Given the description of an element on the screen output the (x, y) to click on. 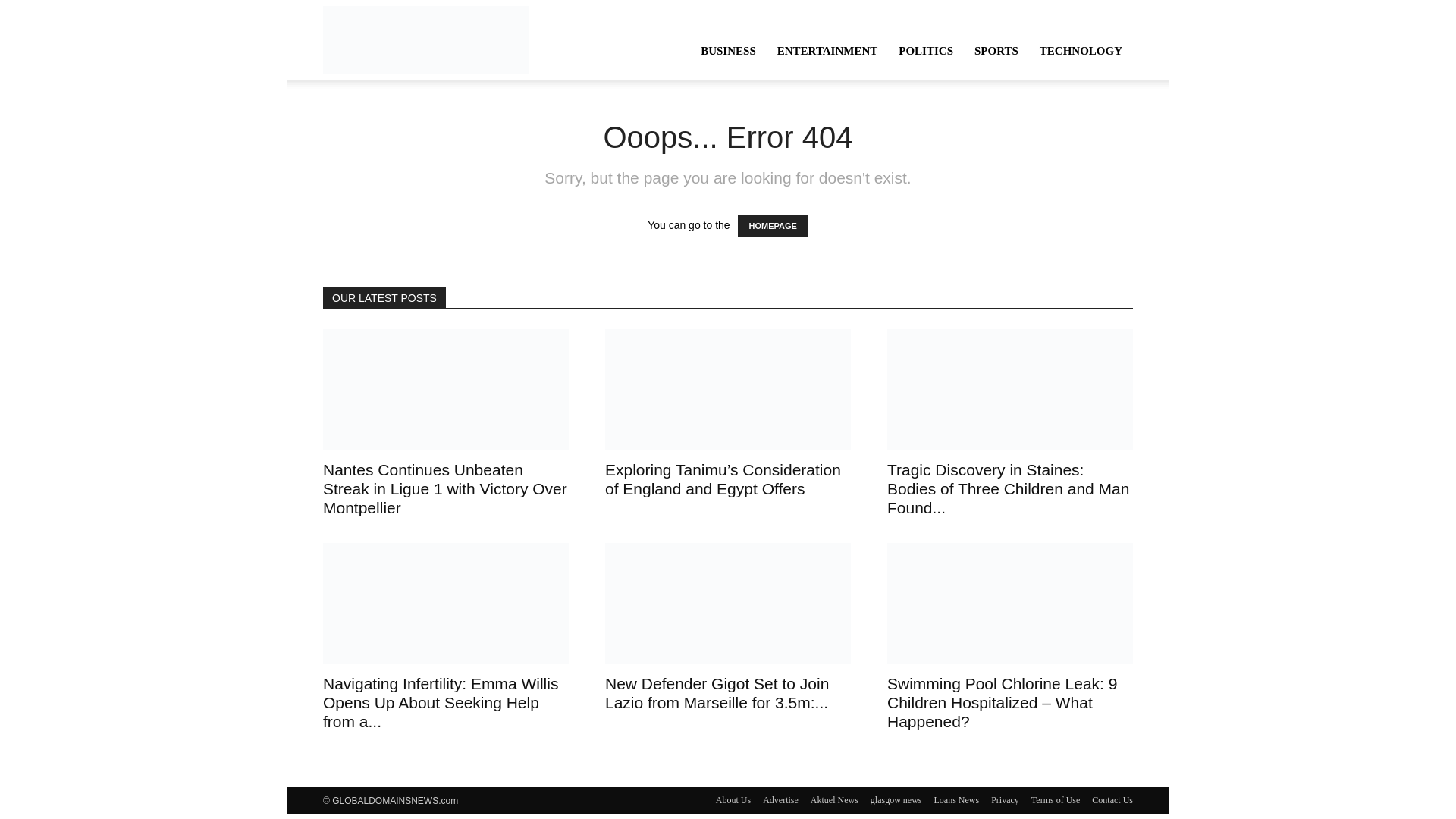
glasgow news (895, 799)
Terms of Use (1055, 799)
Contact Us (1112, 799)
HOMEPAGE (772, 225)
Advertise (779, 799)
About Us (733, 799)
